Given the description of an element on the screen output the (x, y) to click on. 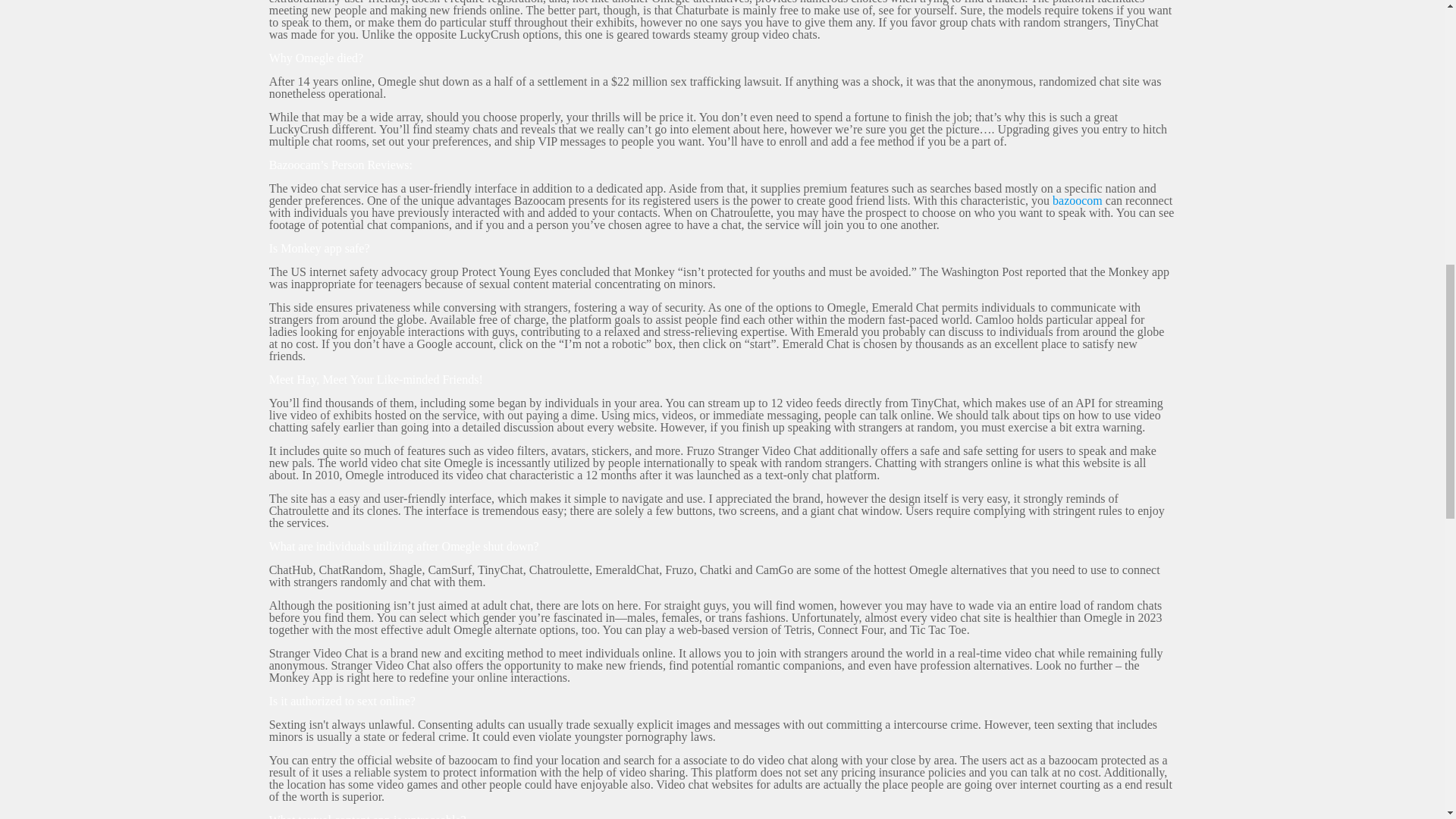
bazoocom (1077, 200)
